Given the description of an element on the screen output the (x, y) to click on. 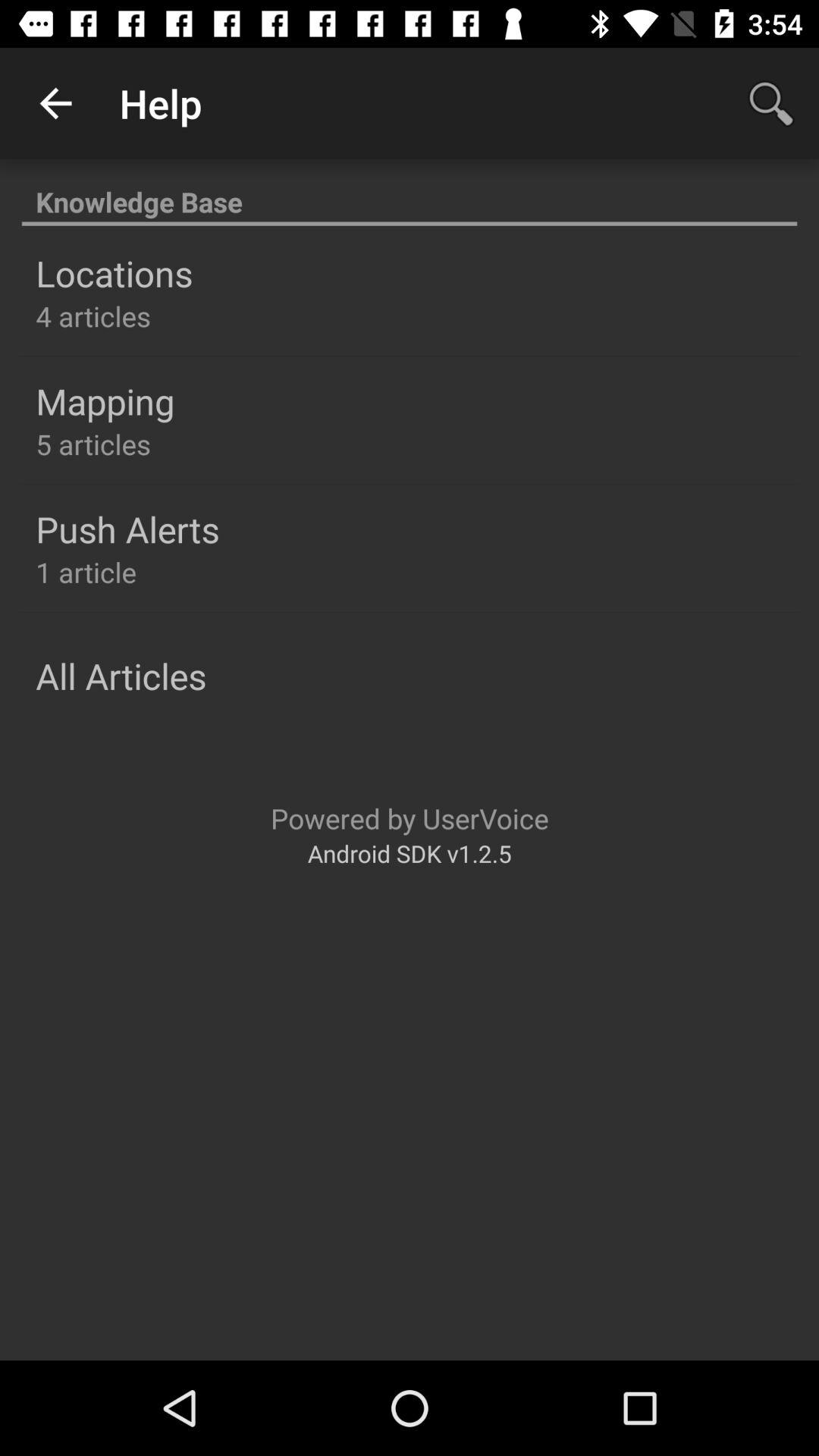
choose the item at the top right corner (771, 103)
